Given the description of an element on the screen output the (x, y) to click on. 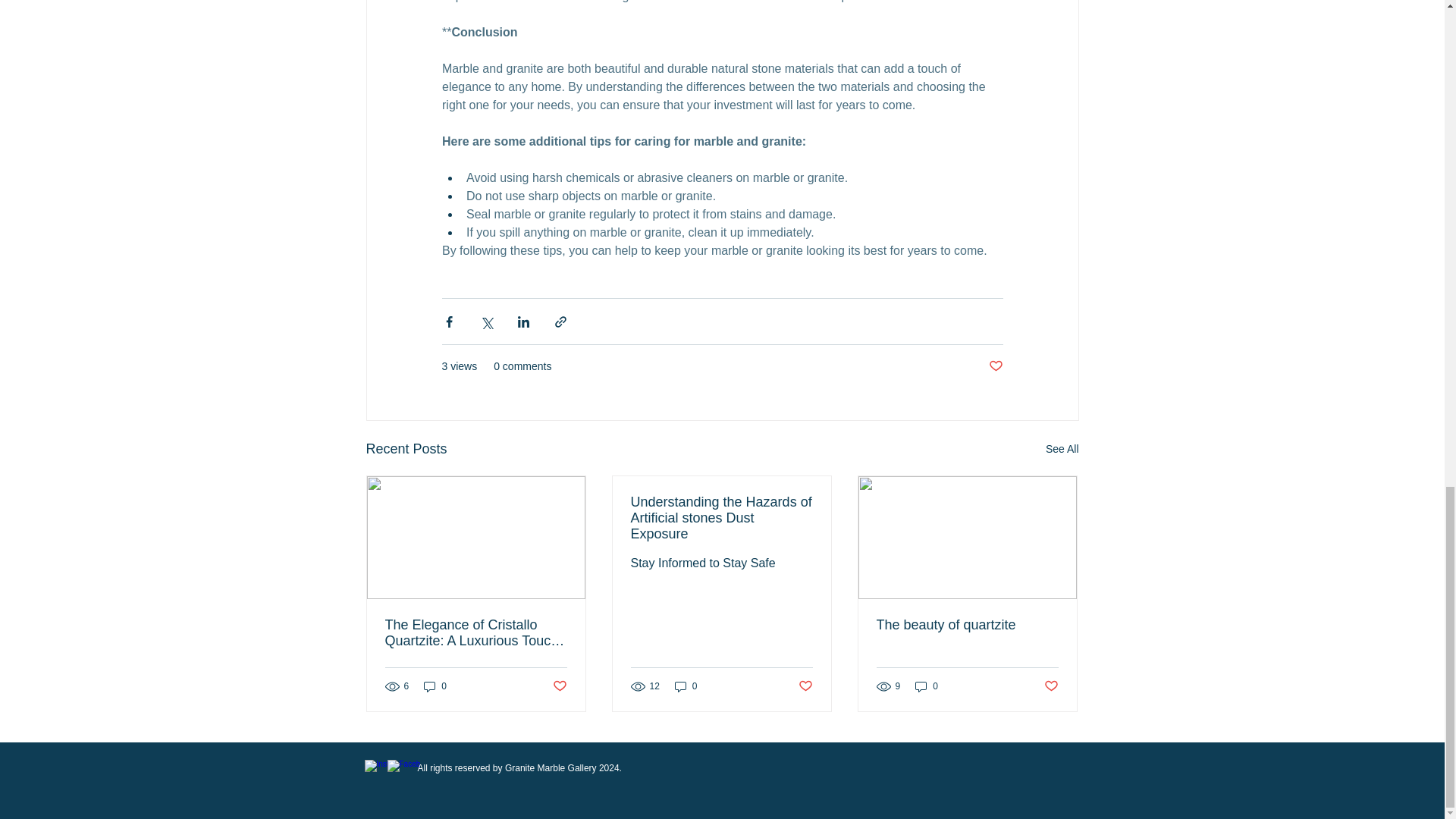
0 (926, 686)
Understanding the Hazards of Artificial stones Dust Exposure (721, 518)
Post not marked as liked (804, 686)
Post not marked as liked (1050, 686)
The beauty of quartzite (967, 625)
Post not marked as liked (558, 686)
0 (435, 686)
See All (1061, 449)
0 (685, 686)
